Given the description of an element on the screen output the (x, y) to click on. 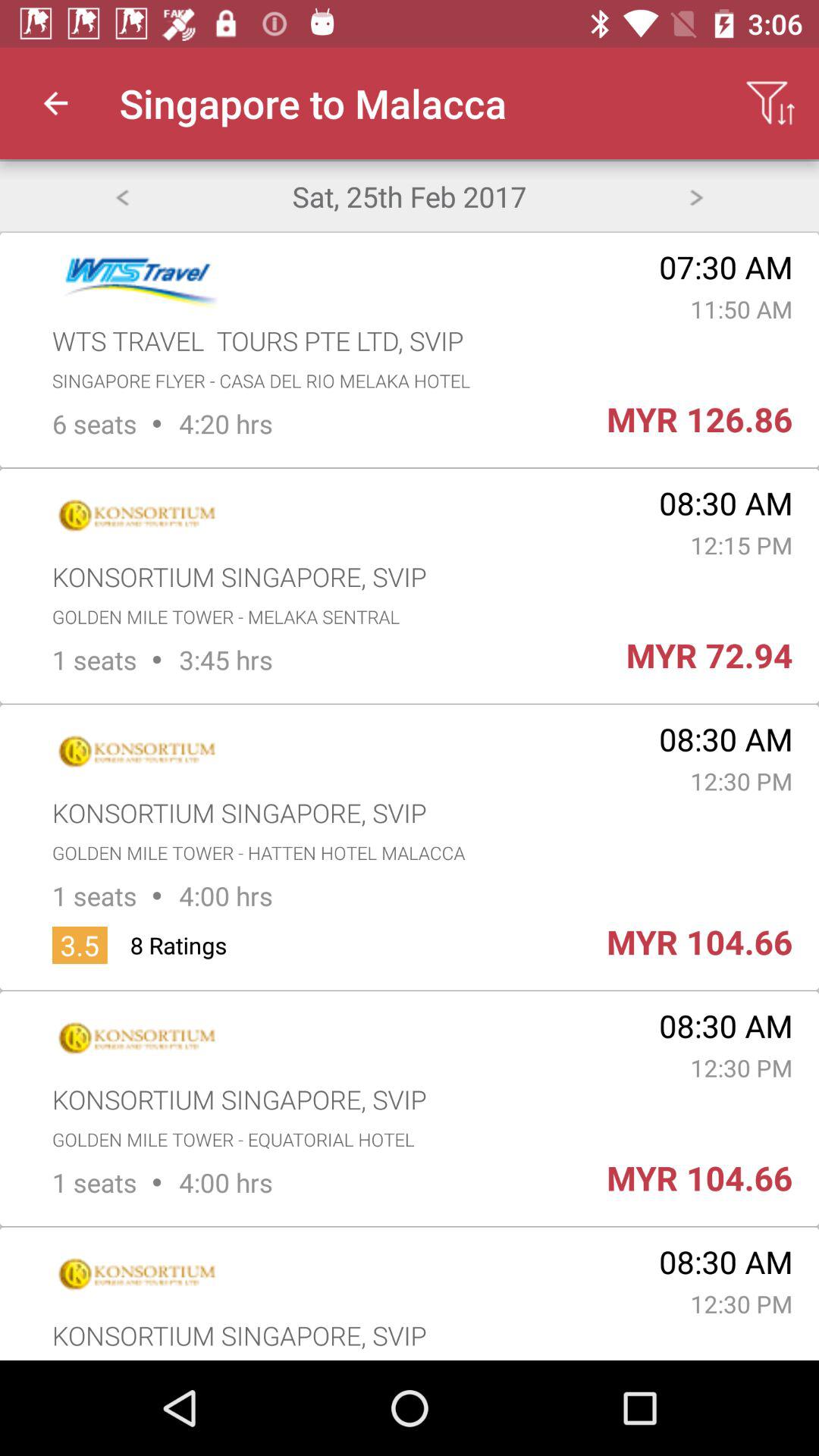
open the icon next to singapore to malacca app (55, 103)
